Given the description of an element on the screen output the (x, y) to click on. 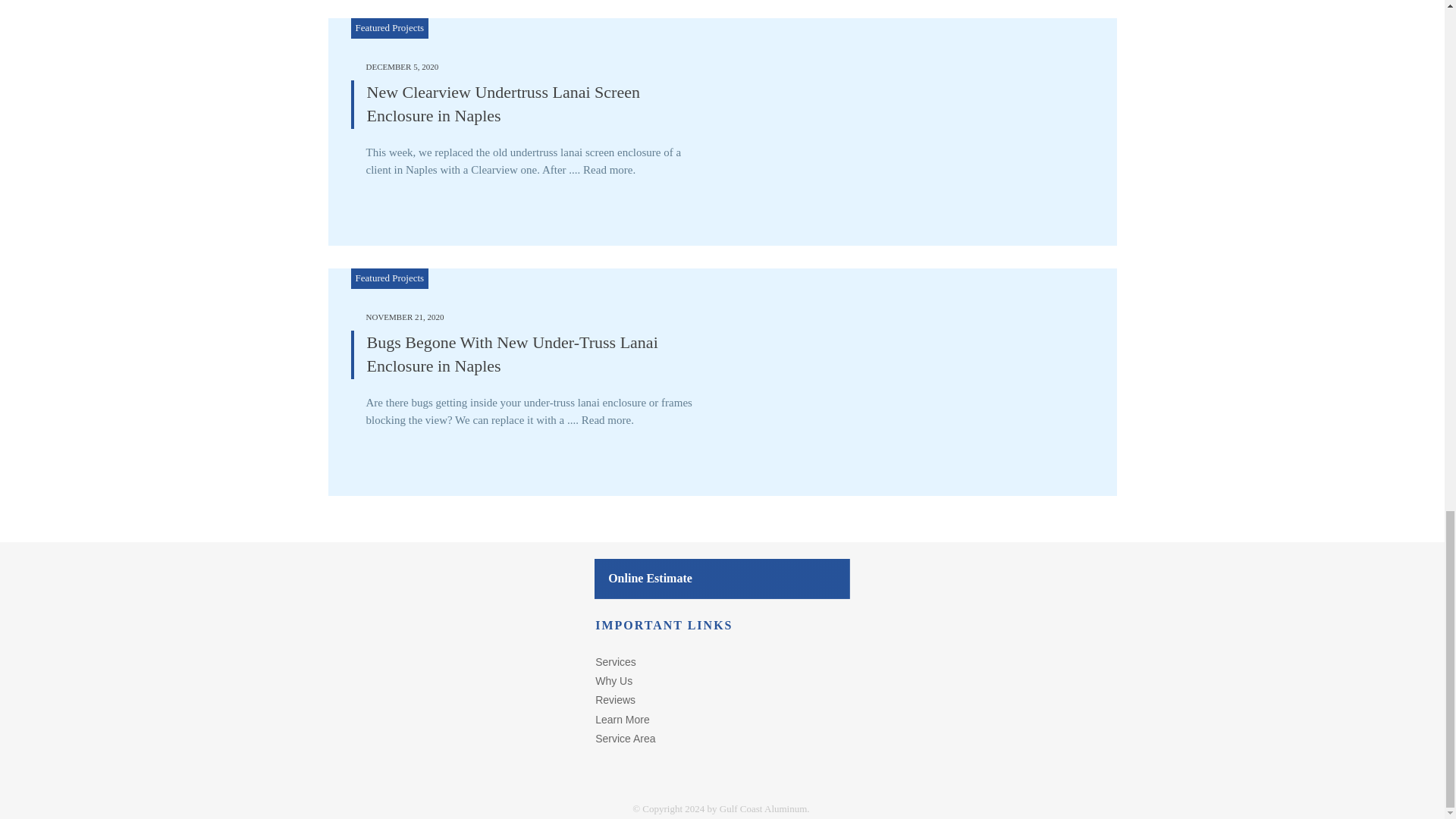
November 21, 2020  (404, 316)
New Clearview Undertruss Lanai Screen Enclosure in Naples (503, 103)
December 5, 2020  (401, 66)
Featured Projects (389, 27)
Featured Projects (389, 277)
